Given the description of an element on the screen output the (x, y) to click on. 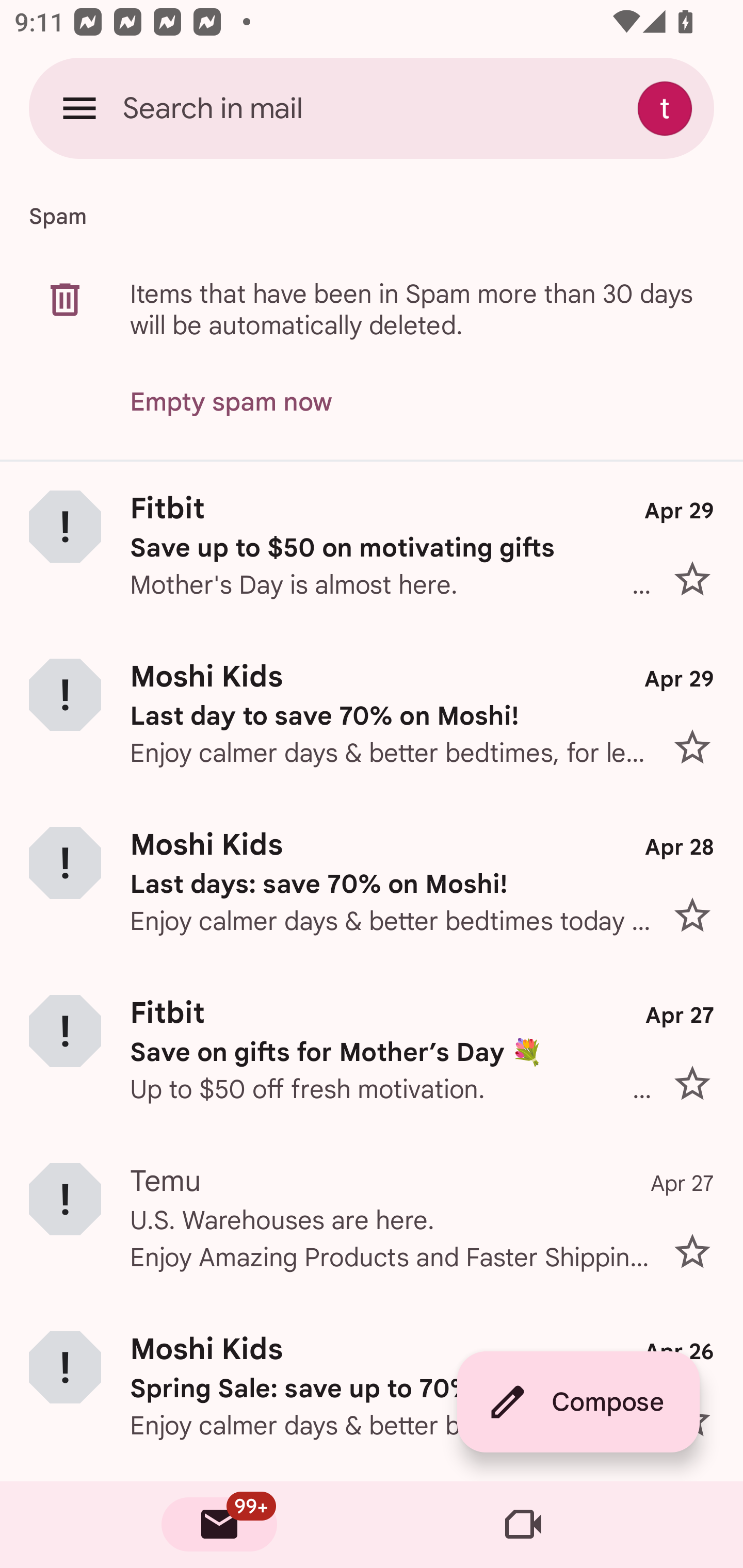
Open navigation drawer (79, 108)
Empty spam now (230, 402)
Compose (577, 1401)
Meet (523, 1524)
